Given the description of an element on the screen output the (x, y) to click on. 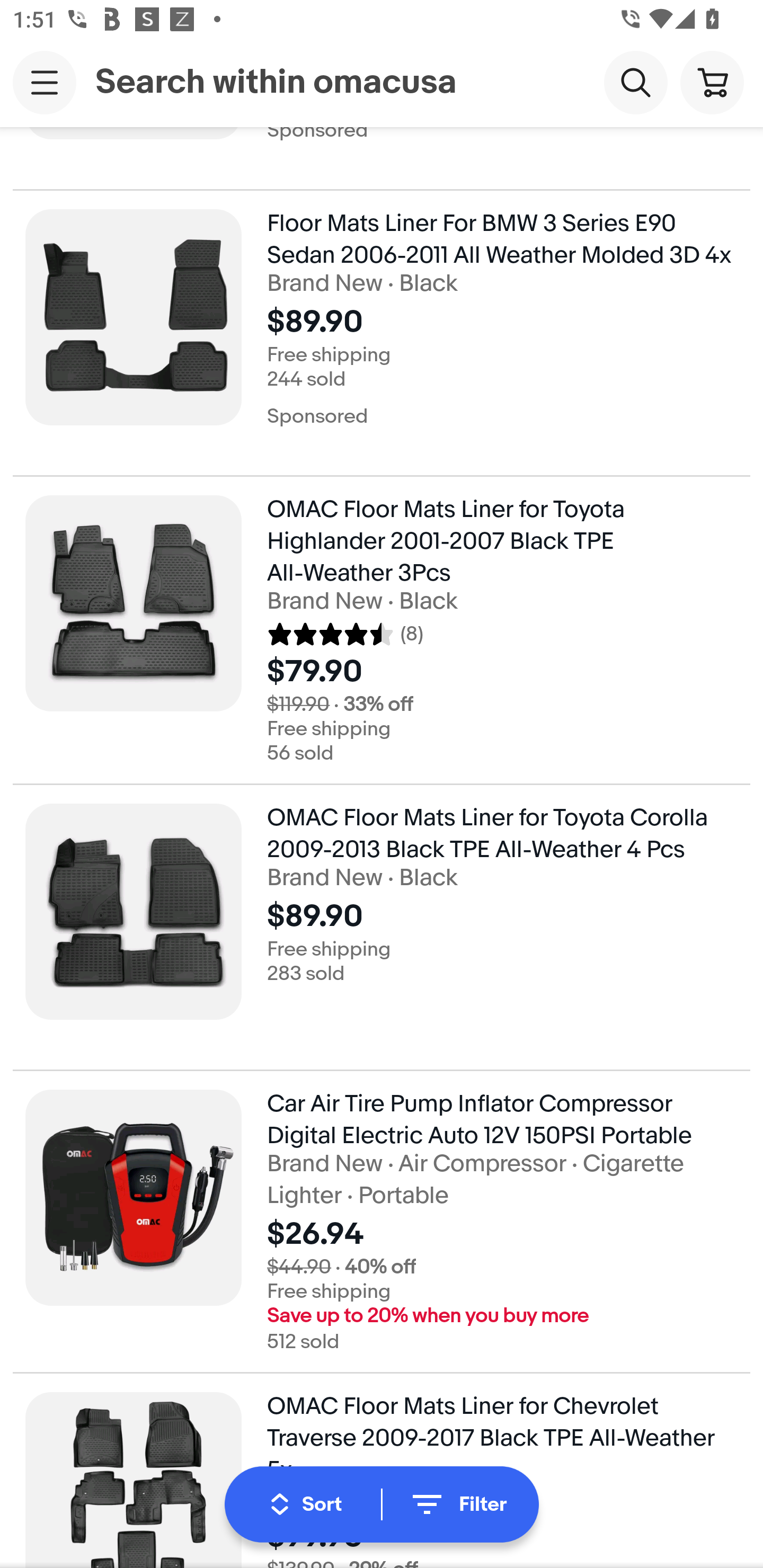
Main navigation, open (44, 82)
Search (635, 81)
Cart button shopping cart (711, 81)
Sort (305, 1504)
Filter (457, 1504)
